Given the description of an element on the screen output the (x, y) to click on. 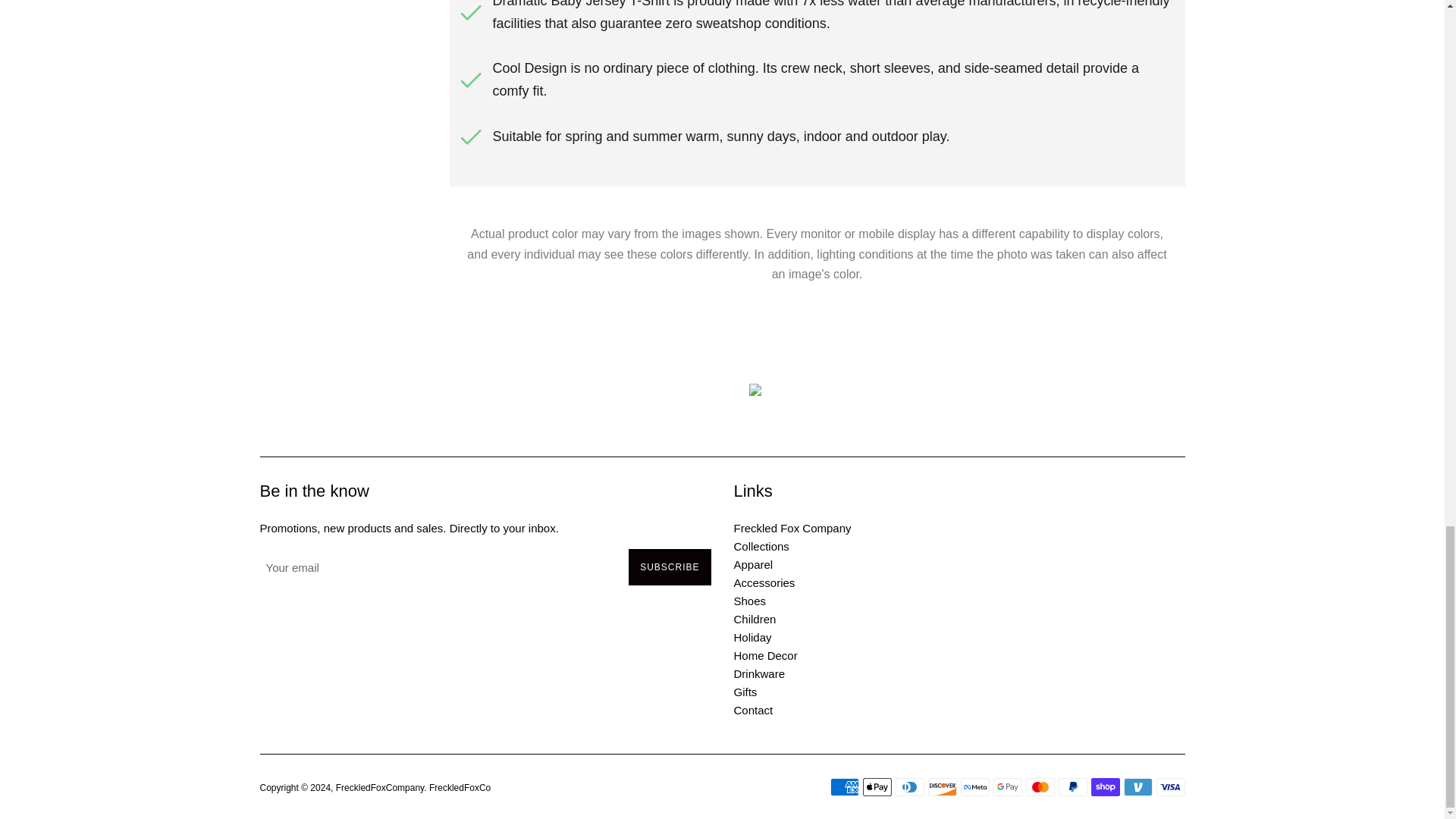
PayPal (1072, 787)
Shop Pay (1104, 787)
Visa (1170, 787)
Meta Pay (973, 787)
Google Pay (1007, 787)
Mastercard (1039, 787)
Apple Pay (877, 787)
American Express (844, 787)
Venmo (1138, 787)
Discover (942, 787)
